Given the description of an element on the screen output the (x, y) to click on. 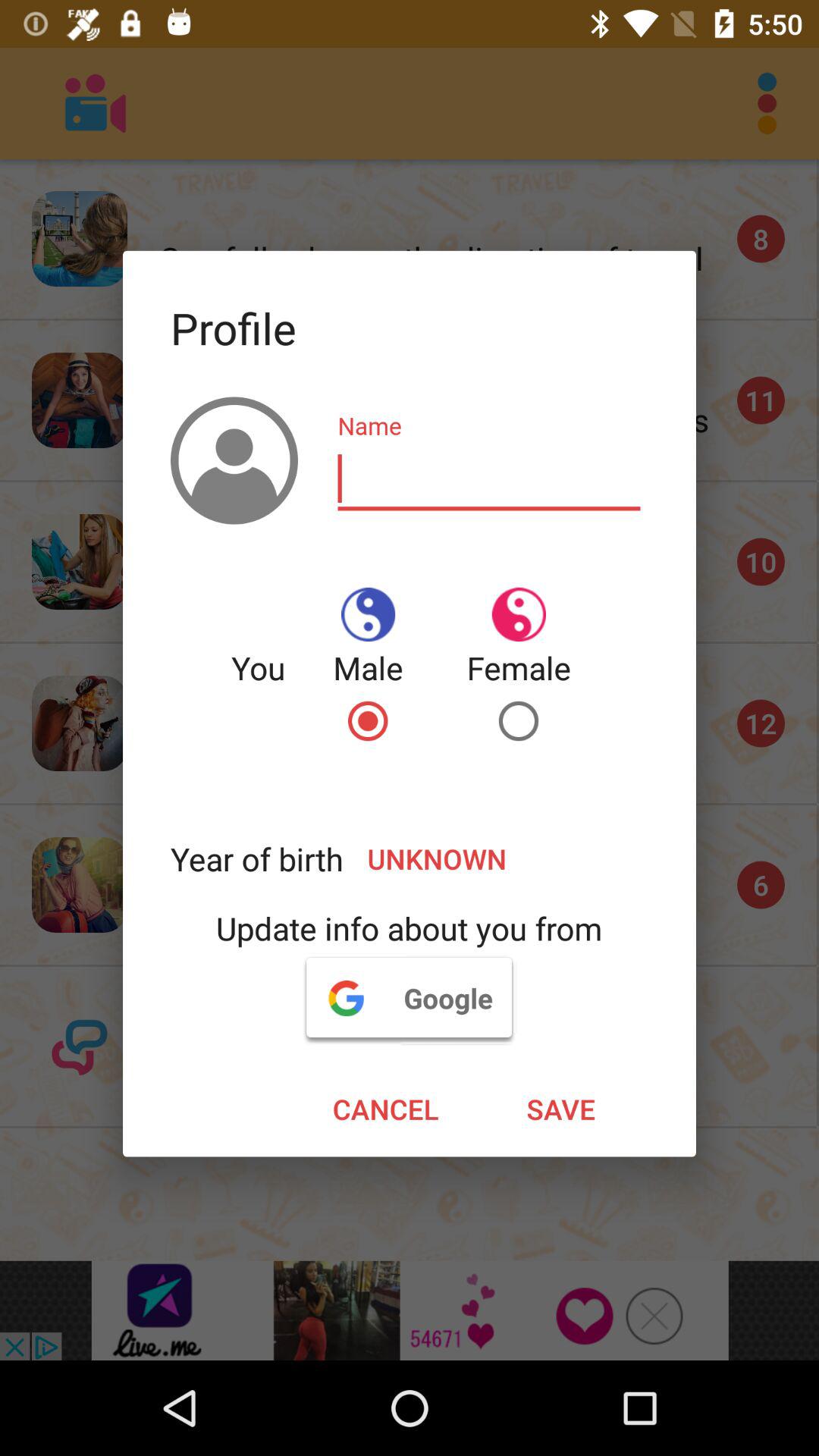
scroll until unknown icon (495, 858)
